Given the description of an element on the screen output the (x, y) to click on. 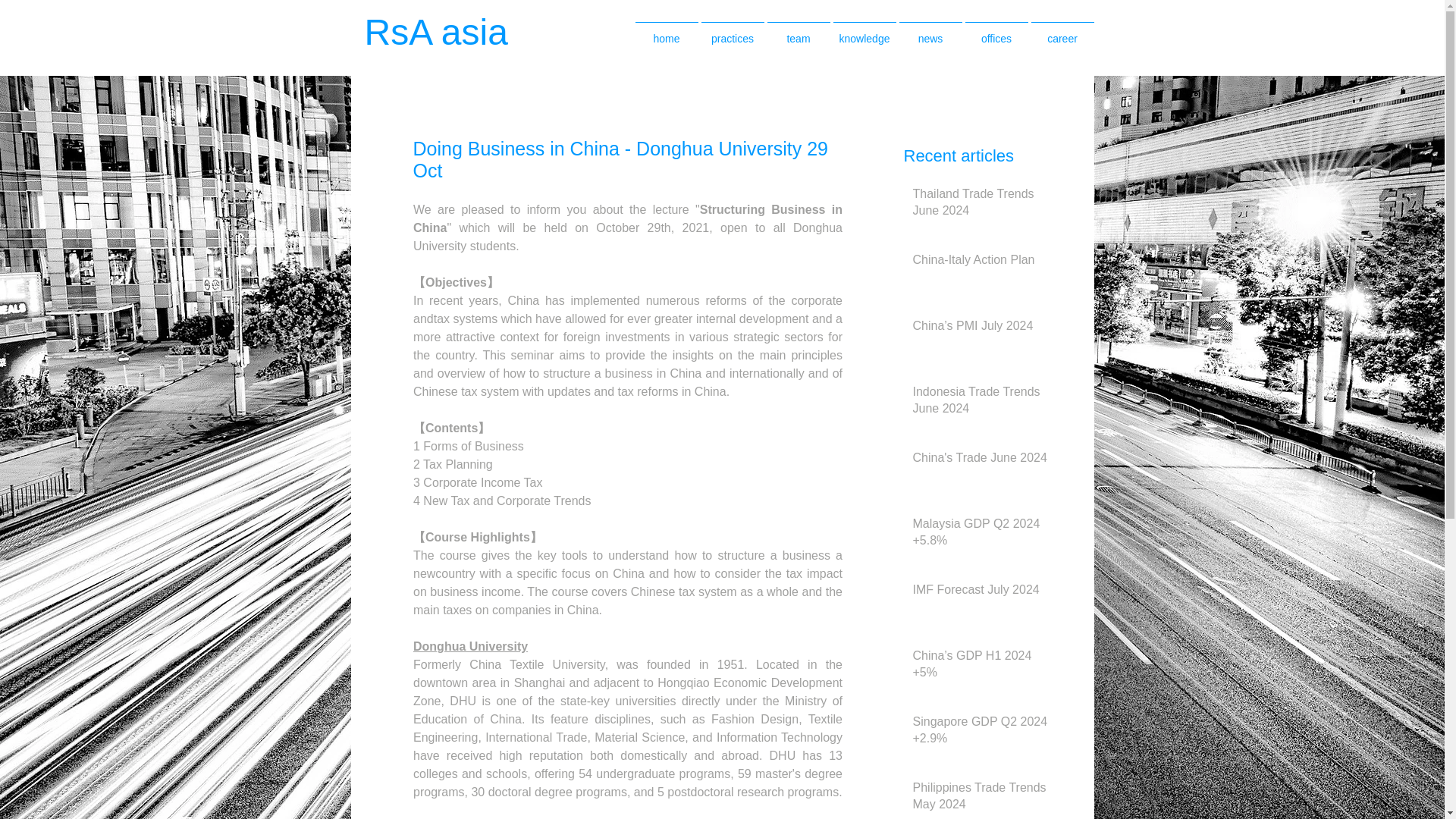
China's Trade June 2024 (981, 460)
RsA asia (452, 31)
news (930, 31)
offices (995, 31)
Philippines Trade Trends May 2024 (981, 799)
knowledge (863, 31)
IMF Forecast July 2024 (981, 592)
team (798, 31)
home (666, 31)
Indonesia Trade Trends June 2024 (981, 404)
career (1062, 31)
practices (731, 31)
China-Italy Action Plan (981, 262)
Thailand Trade Trends June 2024 (981, 205)
